Given the description of an element on the screen output the (x, y) to click on. 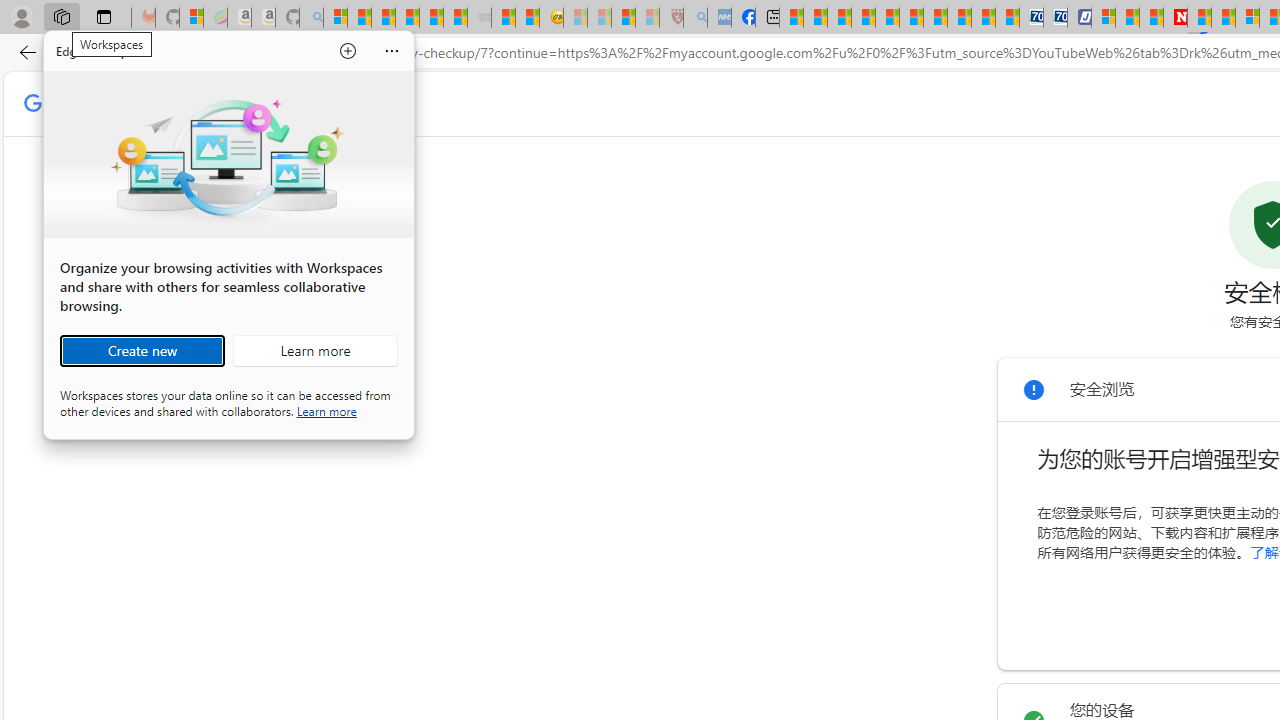
Cheap Car Rentals - Save70.com (1031, 17)
MSNBC - MSN (790, 17)
Learn more about Workspaces privacy (326, 410)
Learn more about Workspaces (315, 350)
Combat Siege - Sleeping (479, 17)
12 Popular Science Lies that Must be Corrected - Sleeping (647, 17)
Robert H. Shmerling, MD - Harvard Health - Sleeping (671, 17)
